Given the description of an element on the screen output the (x, y) to click on. 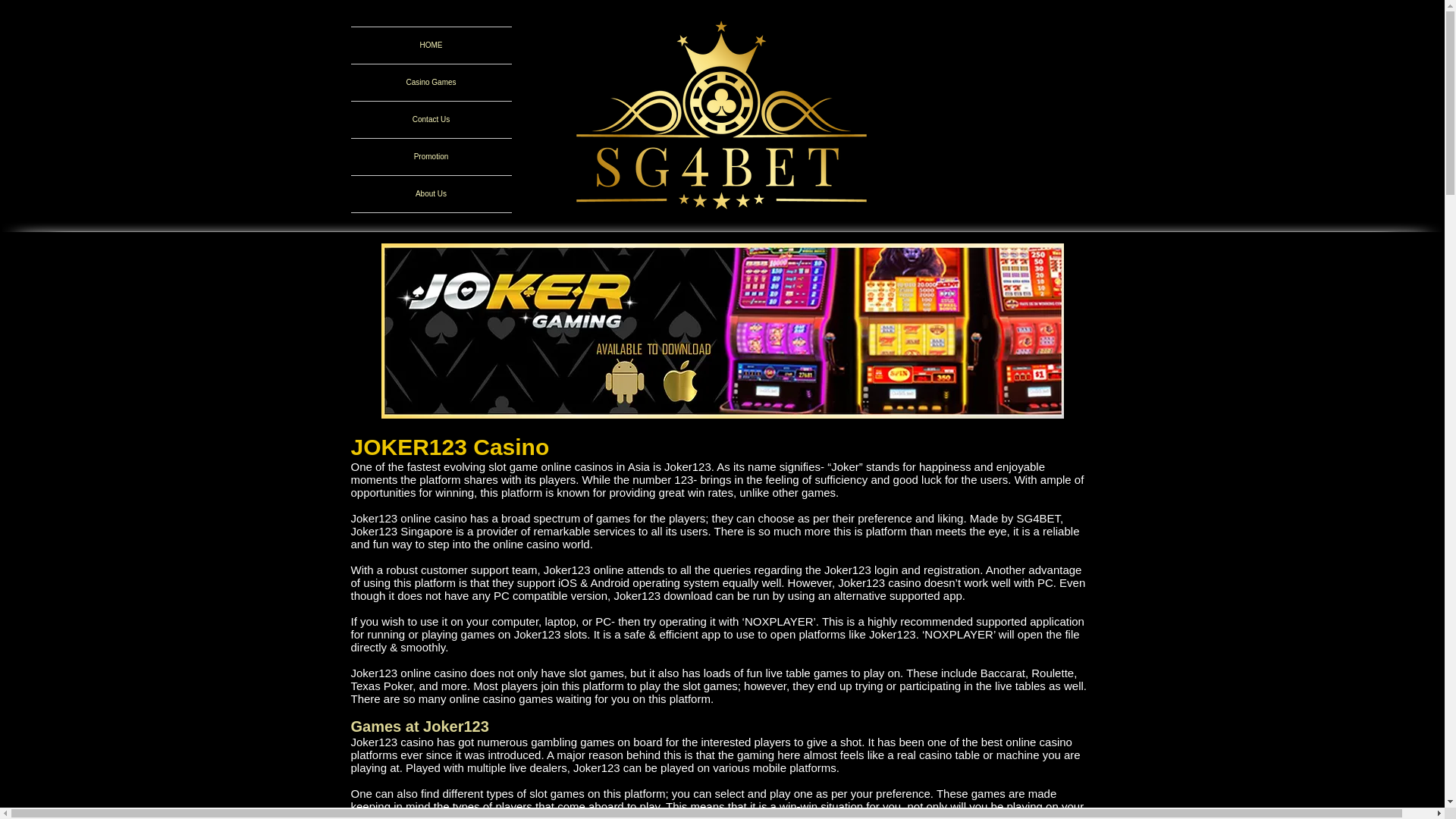
About Us (430, 194)
Casino Games (430, 82)
HOME (430, 45)
Promotion (430, 156)
Contact Us (430, 119)
